Given the description of an element on the screen output the (x, y) to click on. 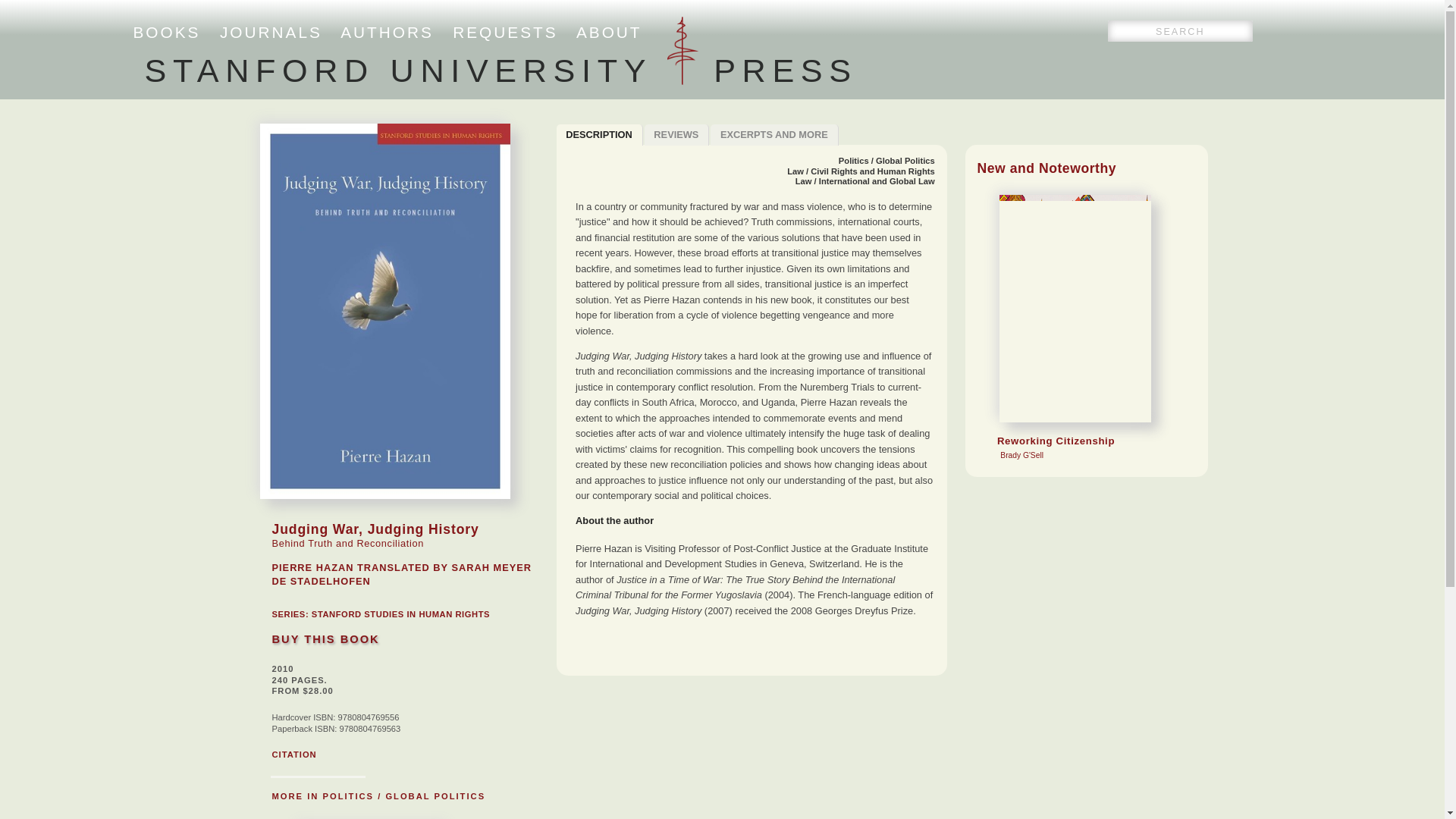
BUY THIS BOOK (324, 639)
ABOUT (774, 134)
JOURNALS (609, 31)
DESCRIPTION (270, 31)
REQUESTS (599, 134)
STANFORD UNIVERSITY PRESS (504, 31)
STANFORD STUDIES IN HUMAN RIGHTS (500, 70)
CITATION (400, 614)
AUTHORS (292, 754)
